Given the description of an element on the screen output the (x, y) to click on. 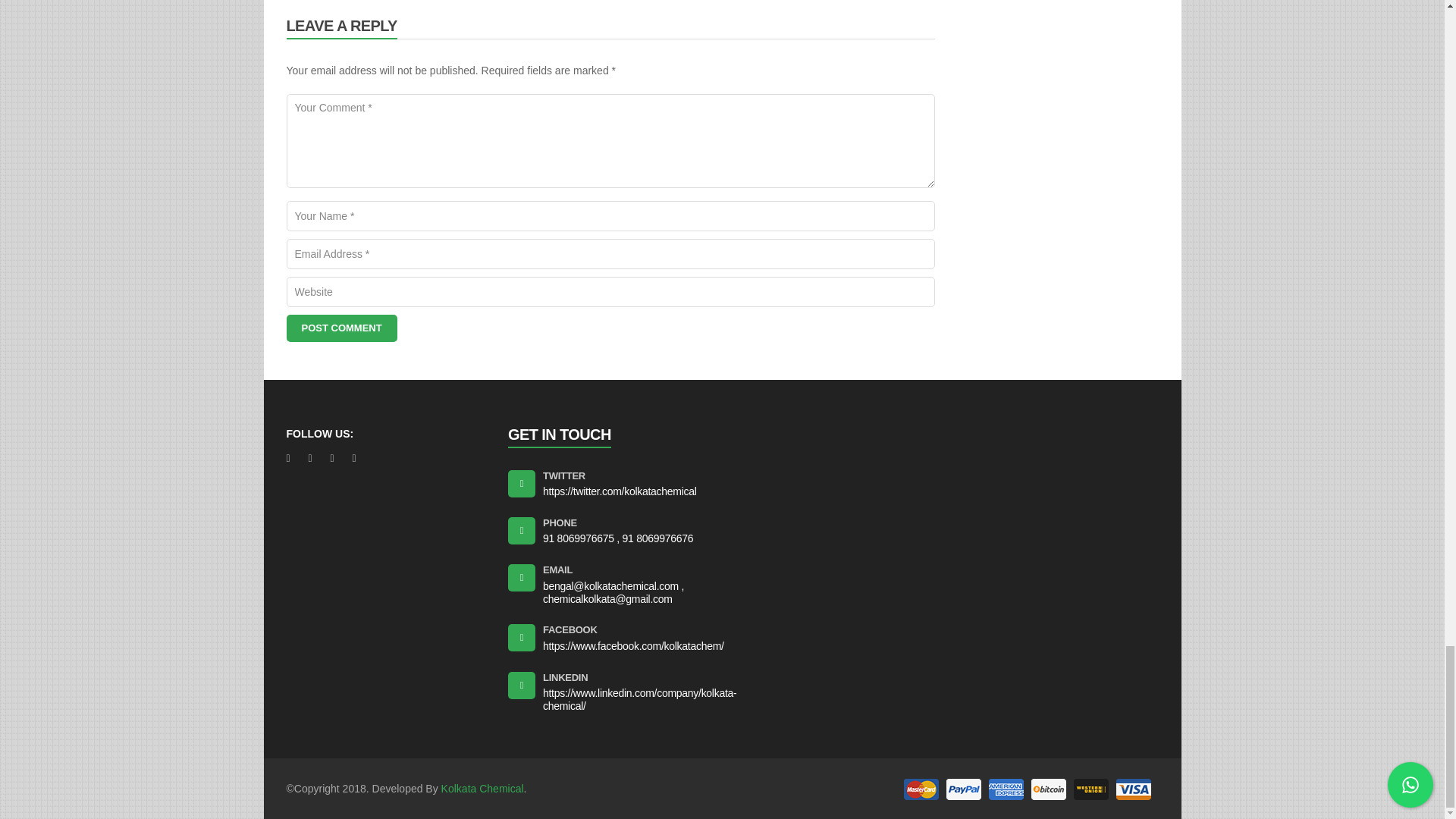
PHONE (559, 522)
Post Comment (341, 328)
Twitter (564, 474)
EMAIL (557, 569)
Post Comment (341, 328)
